Given the description of an element on the screen output the (x, y) to click on. 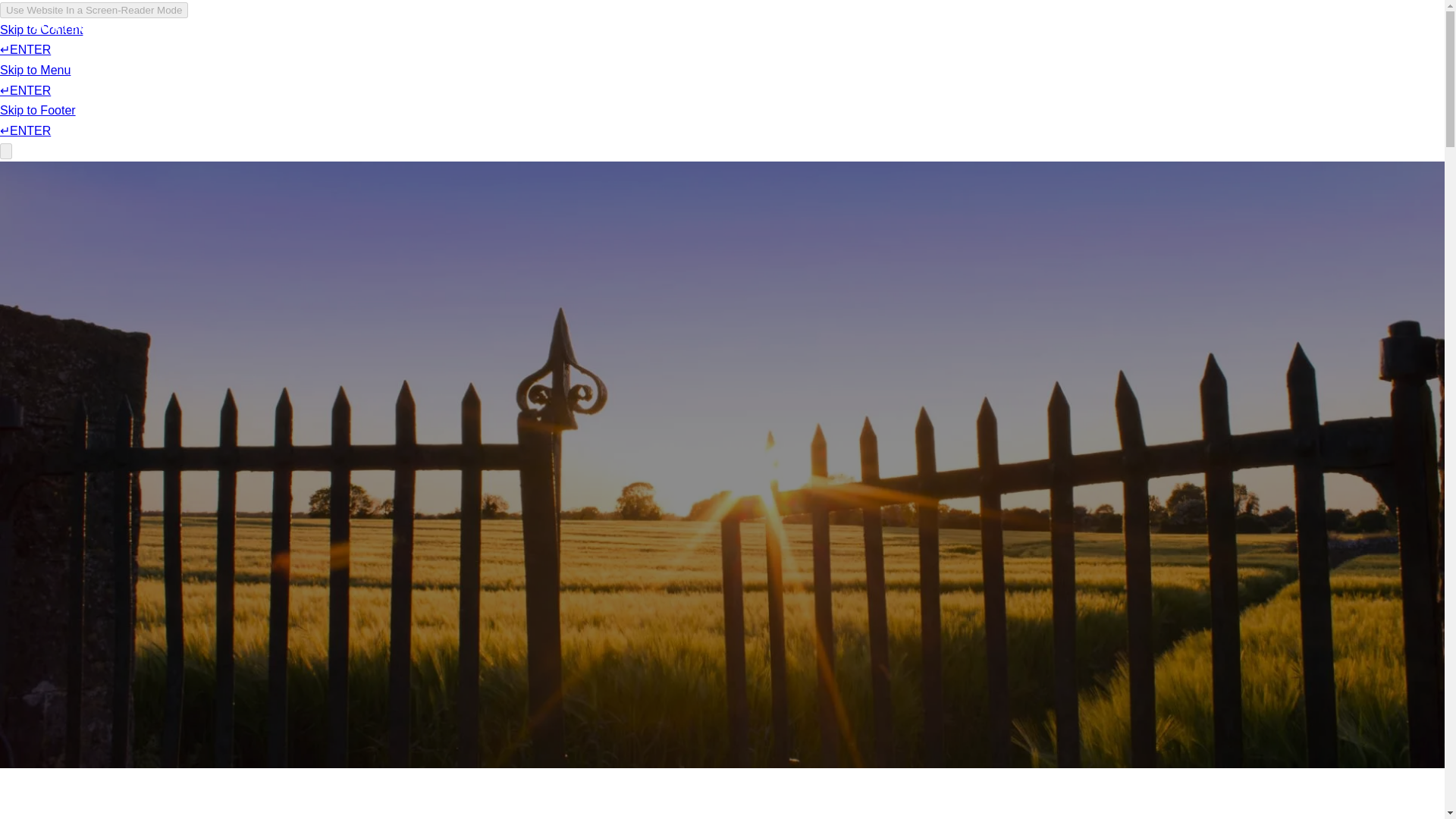
LET'S CONNECT (1315, 42)
MEET THE TEAM (1181, 44)
COMMUNITIES (195, 58)
PORTFOLIO (74, 63)
